Given the description of an element on the screen output the (x, y) to click on. 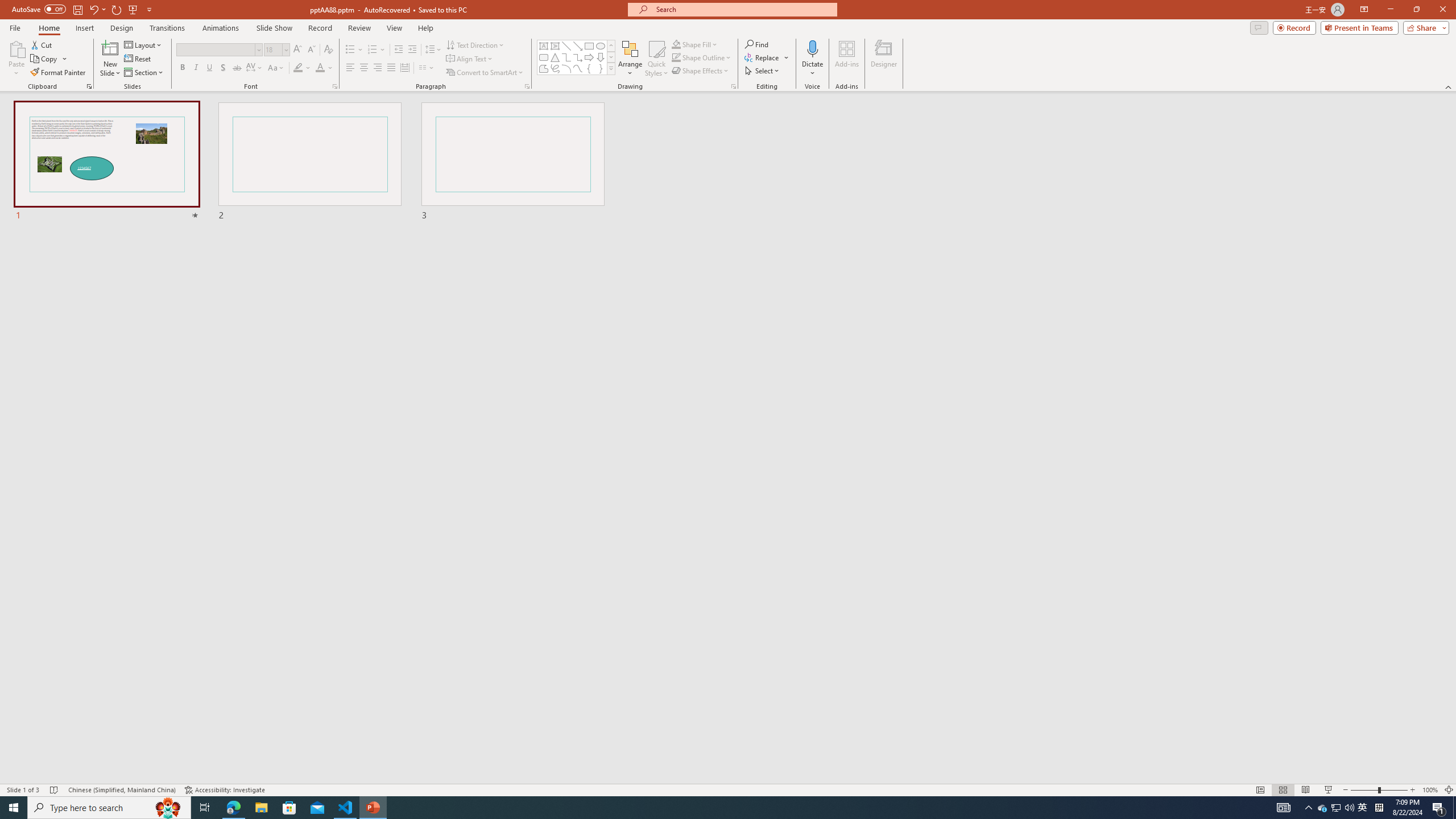
Shape Fill Aqua, Accent 2 (675, 44)
